Given the description of an element on the screen output the (x, y) to click on. 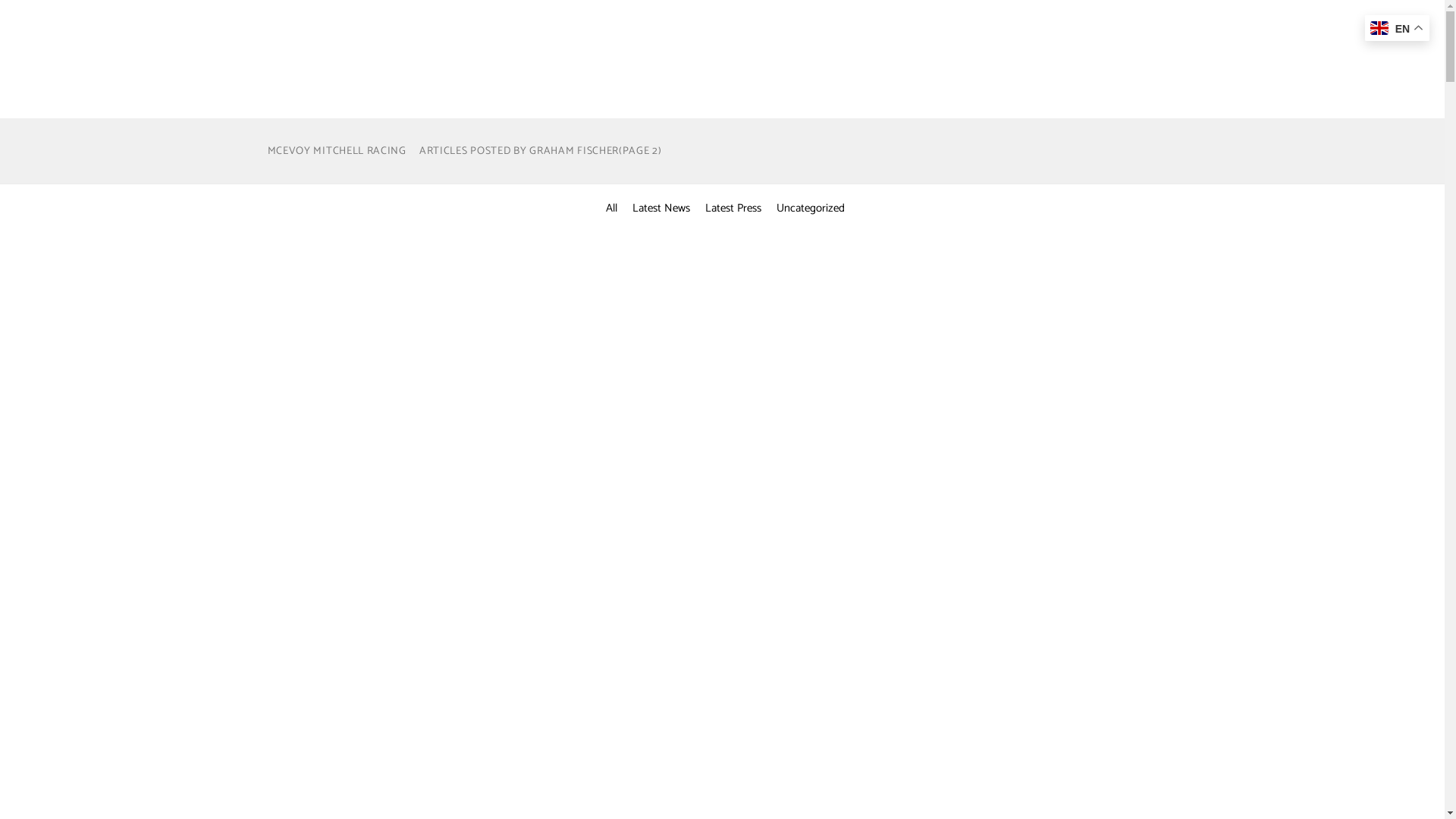
= Element type: text (927, 406)
MCEVOY MITCHELL RACING Element type: text (335, 151)
